Given the description of an element on the screen output the (x, y) to click on. 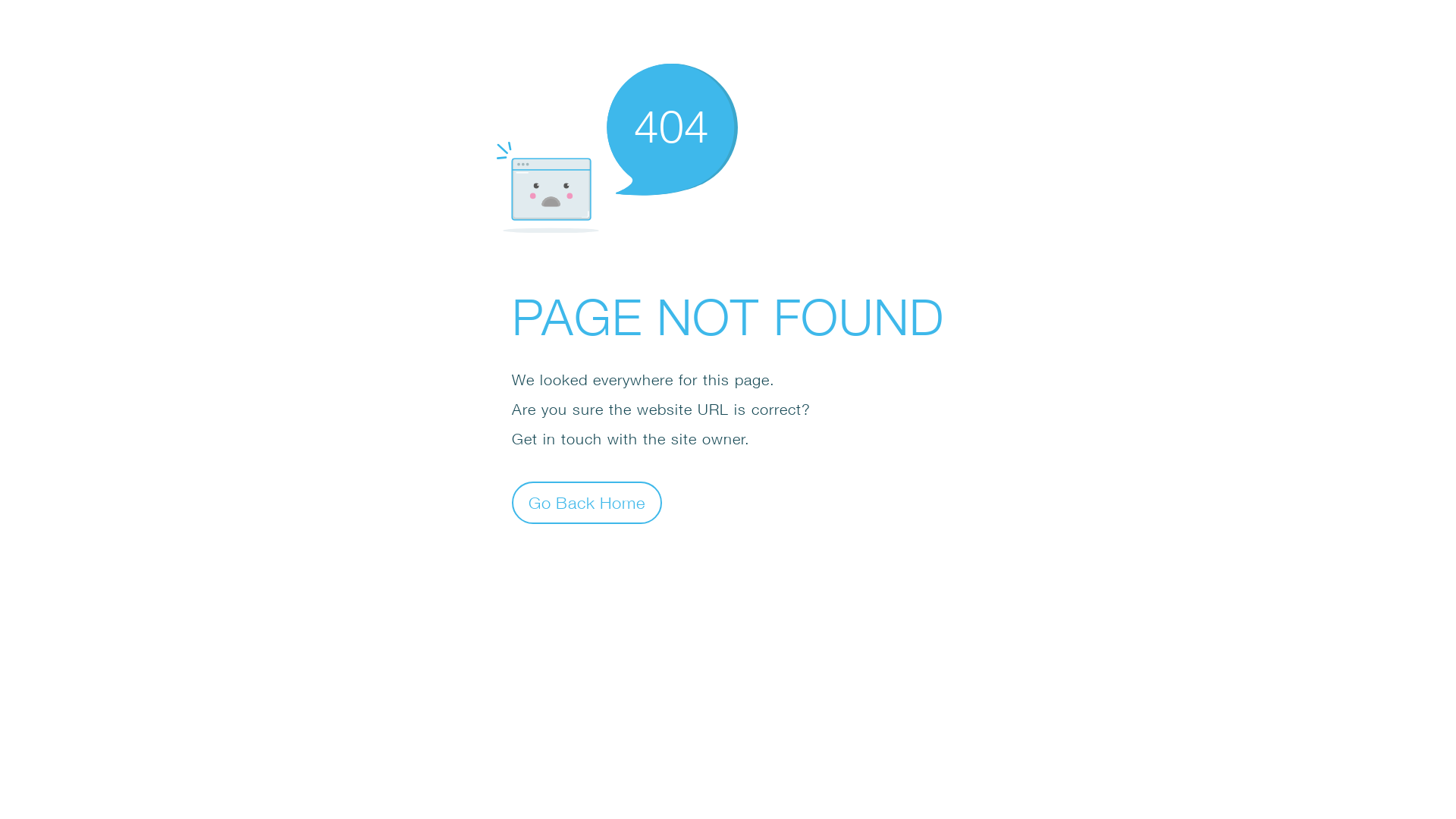
Go Back Home Element type: text (586, 502)
